Given the description of an element on the screen output the (x, y) to click on. 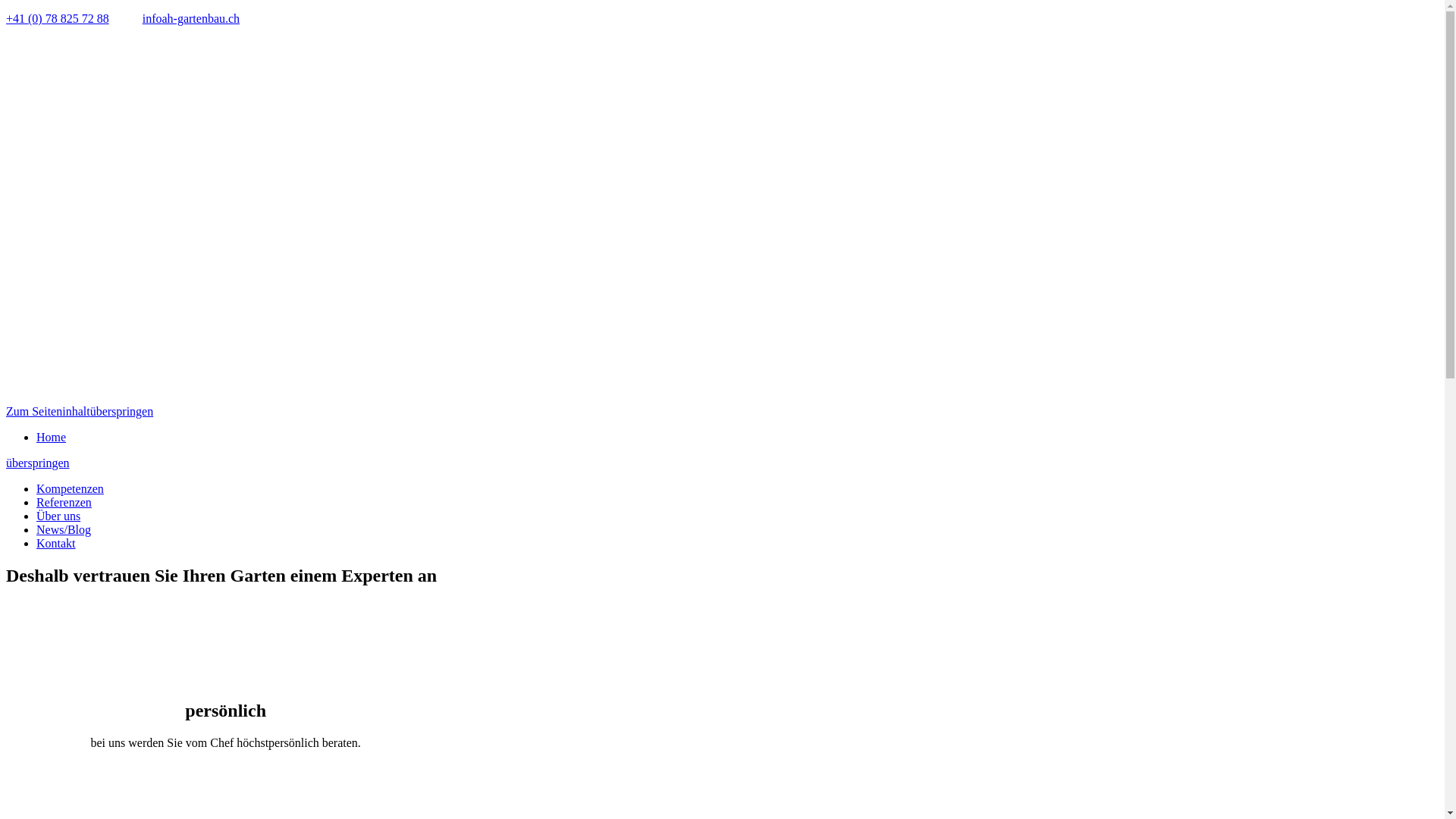
Referenzen Element type: text (63, 501)
AH Gartenbau Element type: hover (188, 219)
Home Element type: text (50, 436)
Zum Seiteninhalt Element type: text (48, 410)
+41 (0) 78 825 72 88 Element type: text (57, 18)
Kontakt Element type: text (55, 542)
Kompetenzen Element type: text (69, 488)
infoah-gartenbau.ch Element type: text (190, 18)
AH Gartenbau Element type: hover (188, 397)
News/Blog Element type: text (63, 529)
